Given the description of an element on the screen output the (x, y) to click on. 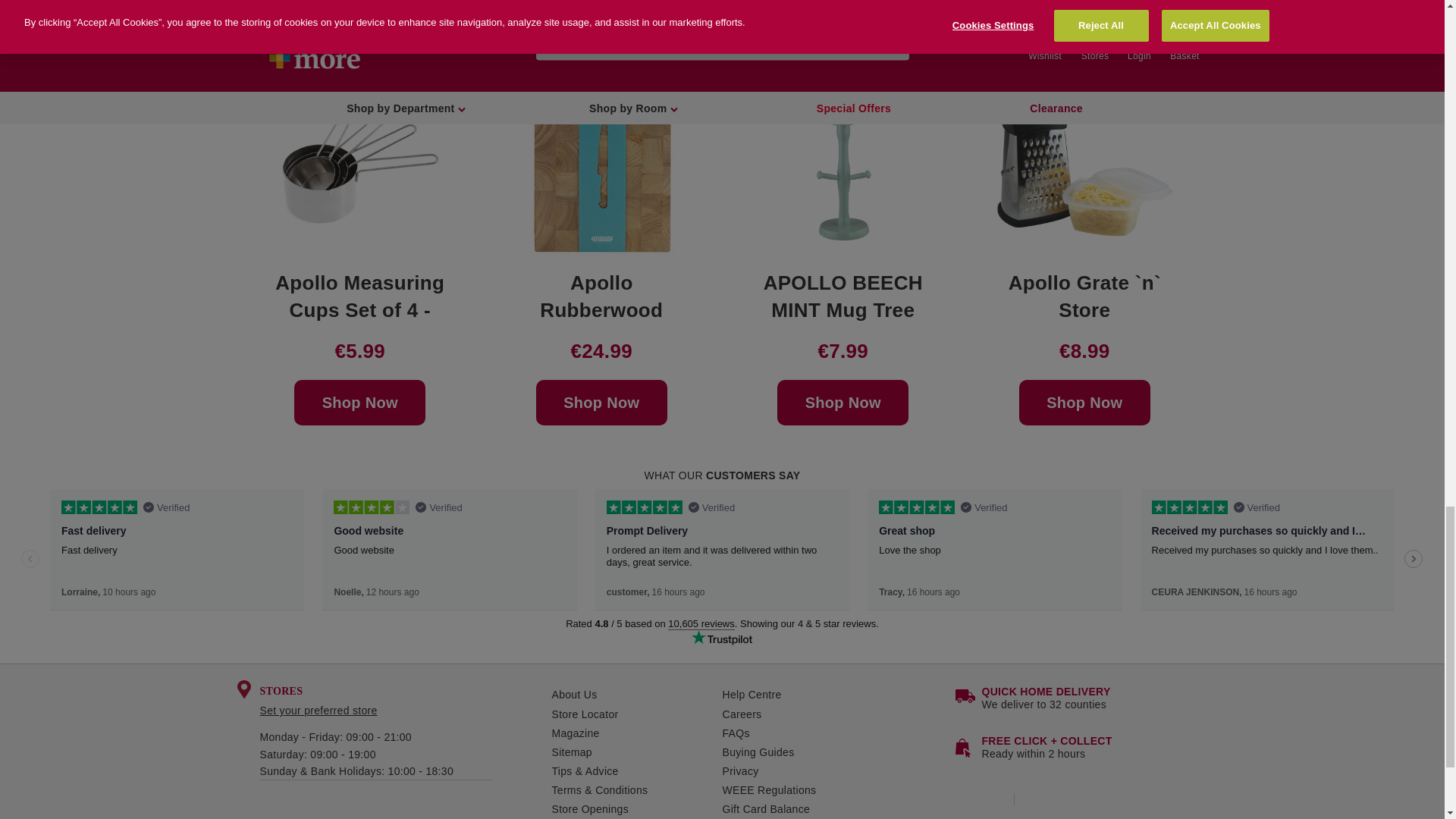
APOLLO BEECH MINT Mug Tree (842, 164)
Go to Contact Us (837, 694)
Go to Sitemap (636, 752)
Go to Store Locator (636, 714)
Apollo Rubberwood Endgrain Block Chopping Board (601, 164)
Apollo Measuring Cups Set of 4 - Stainless Steel (359, 164)
